Given the description of an element on the screen output the (x, y) to click on. 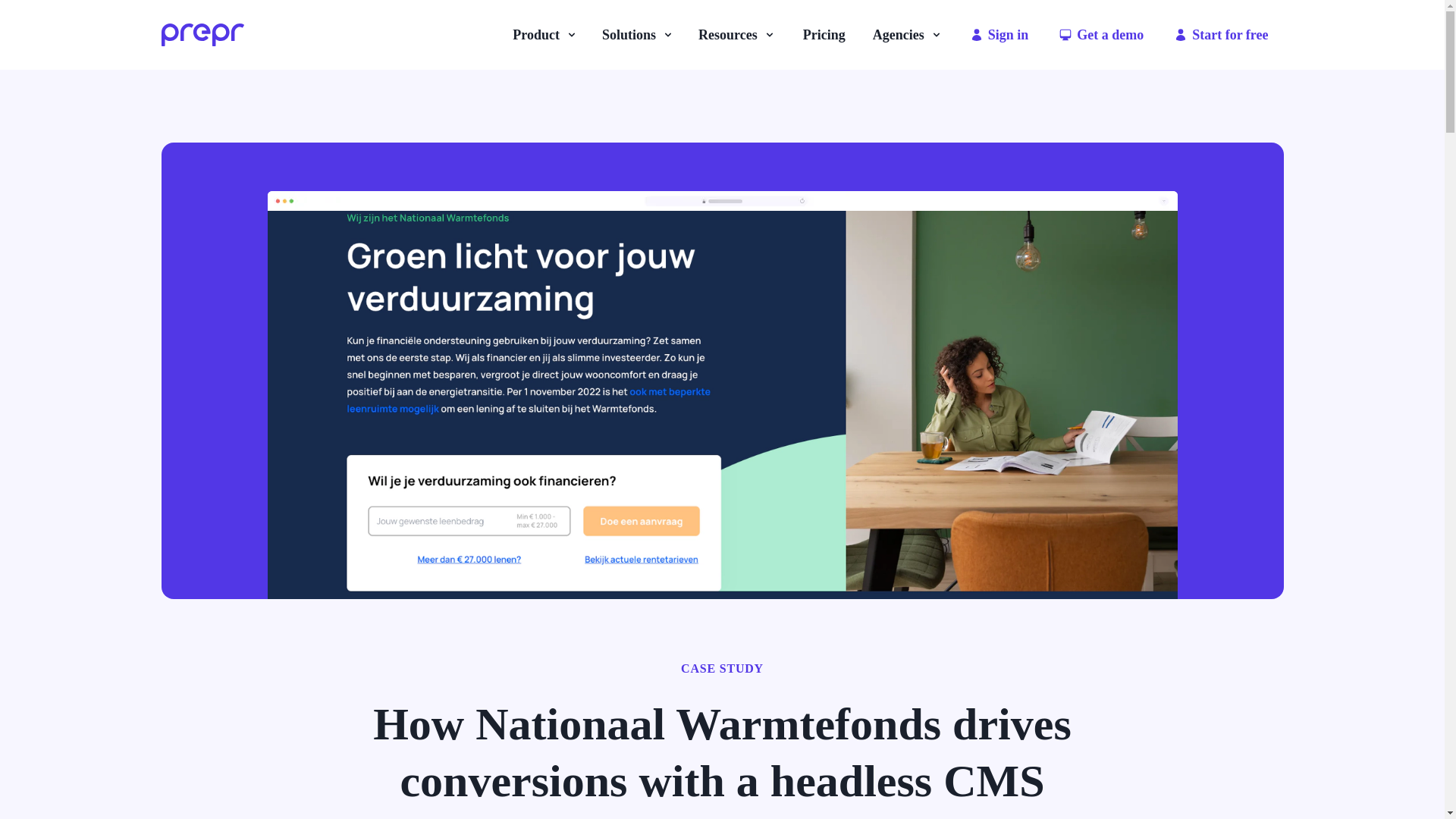
Get a demo (1100, 34)
Product (544, 34)
Resources (736, 34)
Agencies (907, 34)
Start for free (1220, 34)
Prepr (201, 34)
Sign in (999, 34)
Solutions (637, 34)
Pricing (823, 34)
